Given the description of an element on the screen output the (x, y) to click on. 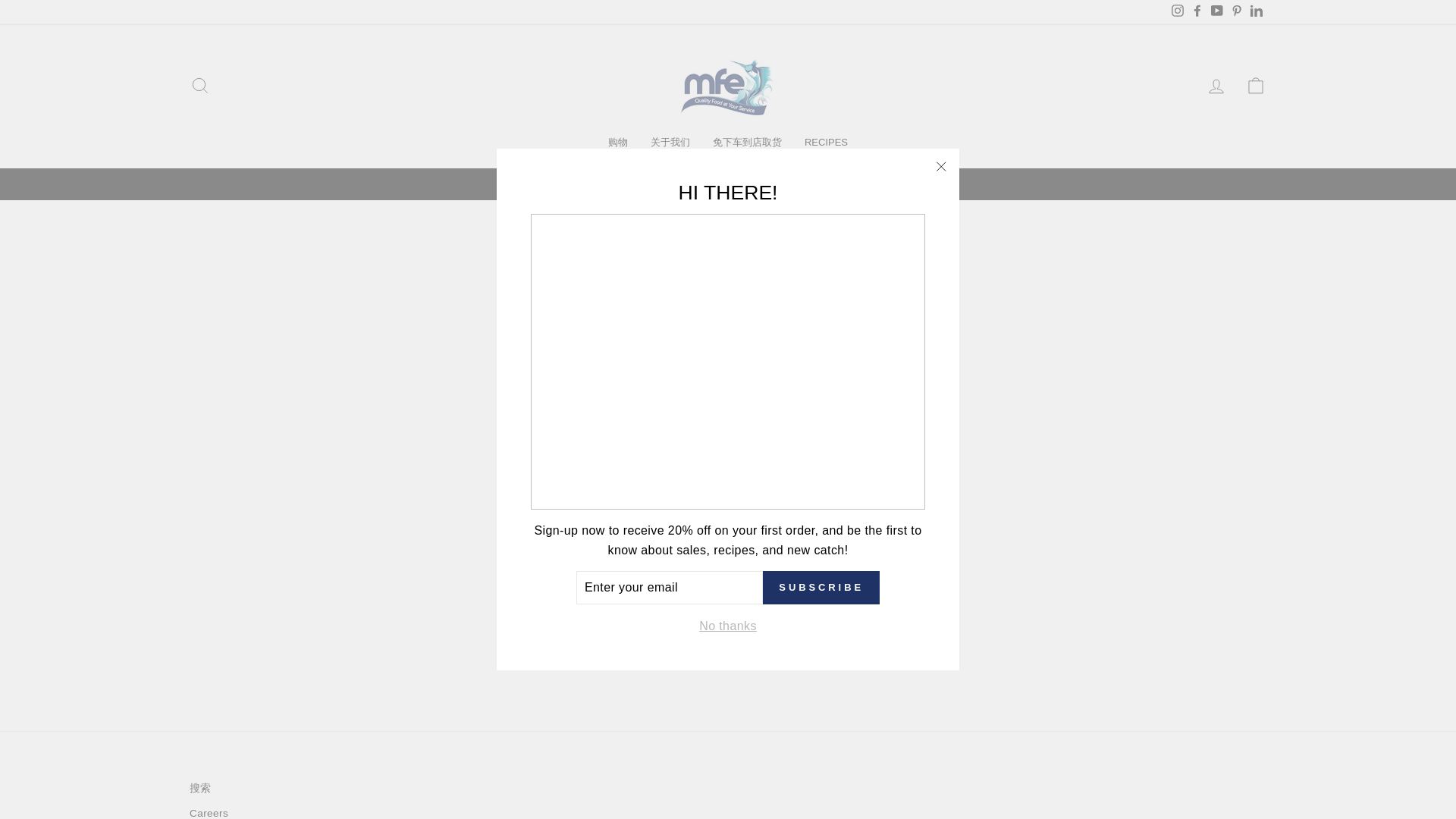
Marine Foods Express, Ltd on LinkedIn (1256, 12)
Marine Foods Express, Ltd on Pinterest (1236, 12)
Marine Foods Express, Ltd on Instagram (1177, 12)
Marine Foods Express, Ltd on YouTube (1217, 12)
Marine Foods Express, Ltd on Facebook (1197, 12)
